Given the description of an element on the screen output the (x, y) to click on. 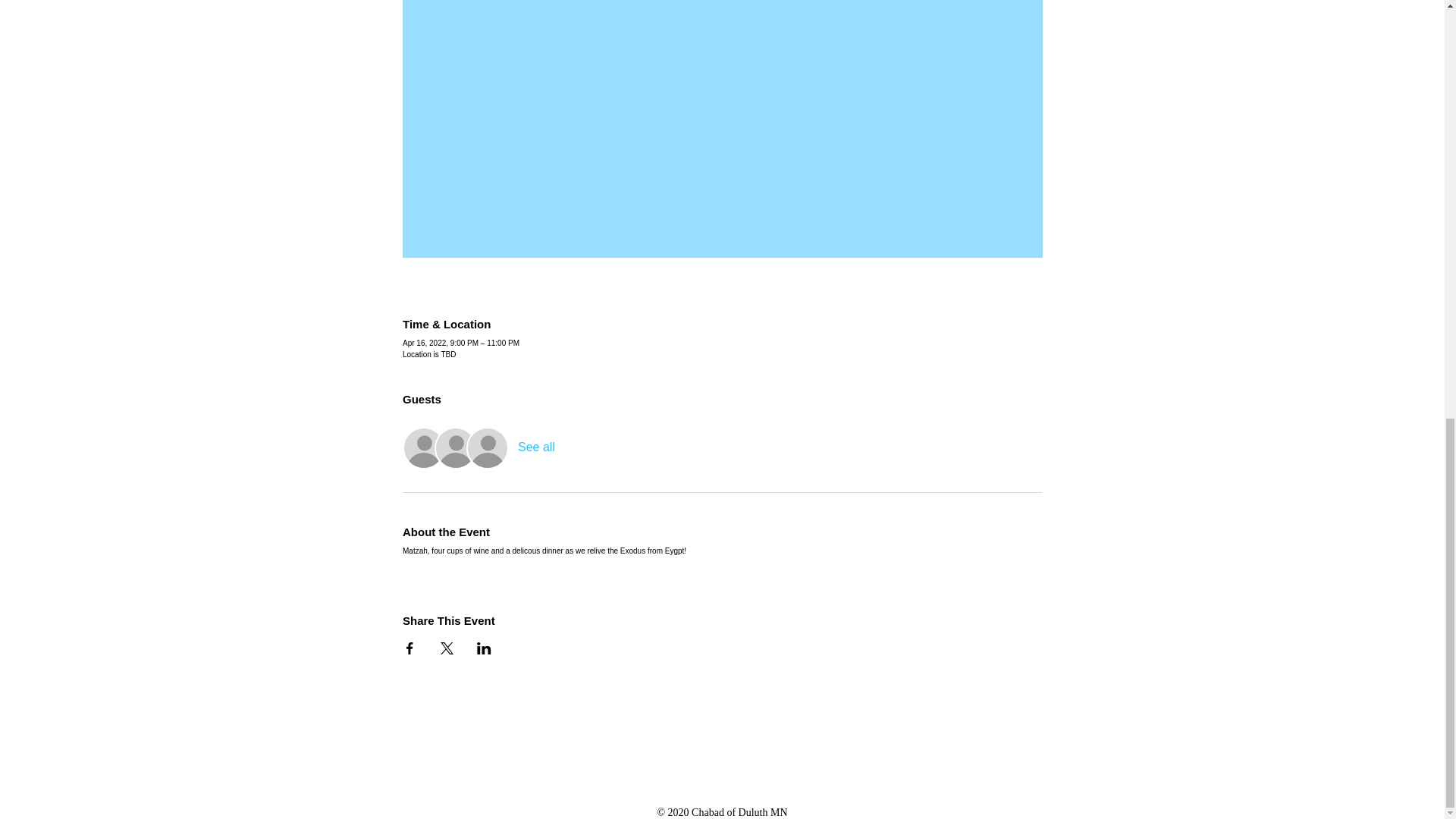
See all (536, 446)
